Given the description of an element on the screen output the (x, y) to click on. 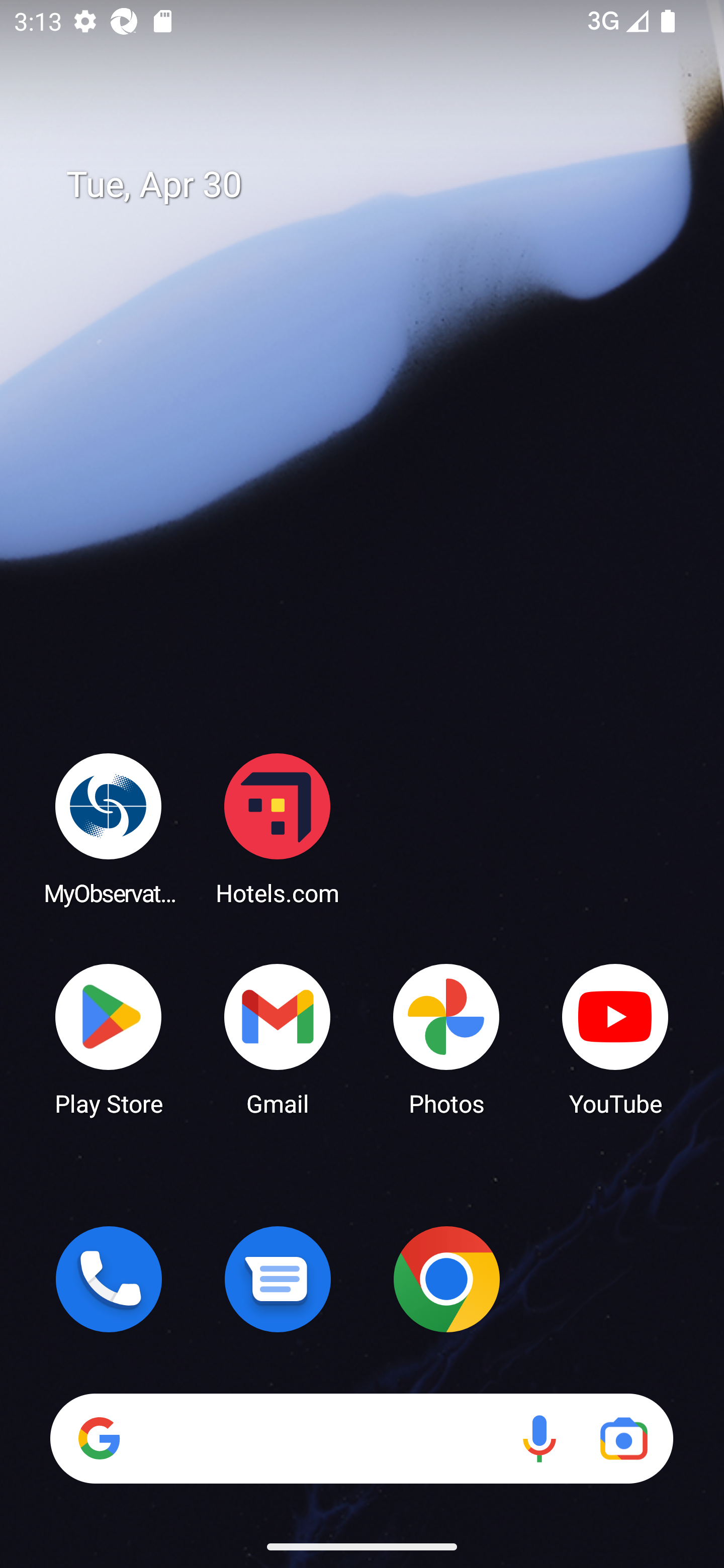
Tue, Apr 30 (375, 184)
MyObservatory (108, 828)
Hotels.com (277, 828)
Play Store (108, 1038)
Gmail (277, 1038)
Photos (445, 1038)
YouTube (615, 1038)
Phone (108, 1279)
Messages (277, 1279)
Chrome (446, 1279)
Search Voice search Google Lens (361, 1438)
Voice search (539, 1438)
Google Lens (623, 1438)
